Given the description of an element on the screen output the (x, y) to click on. 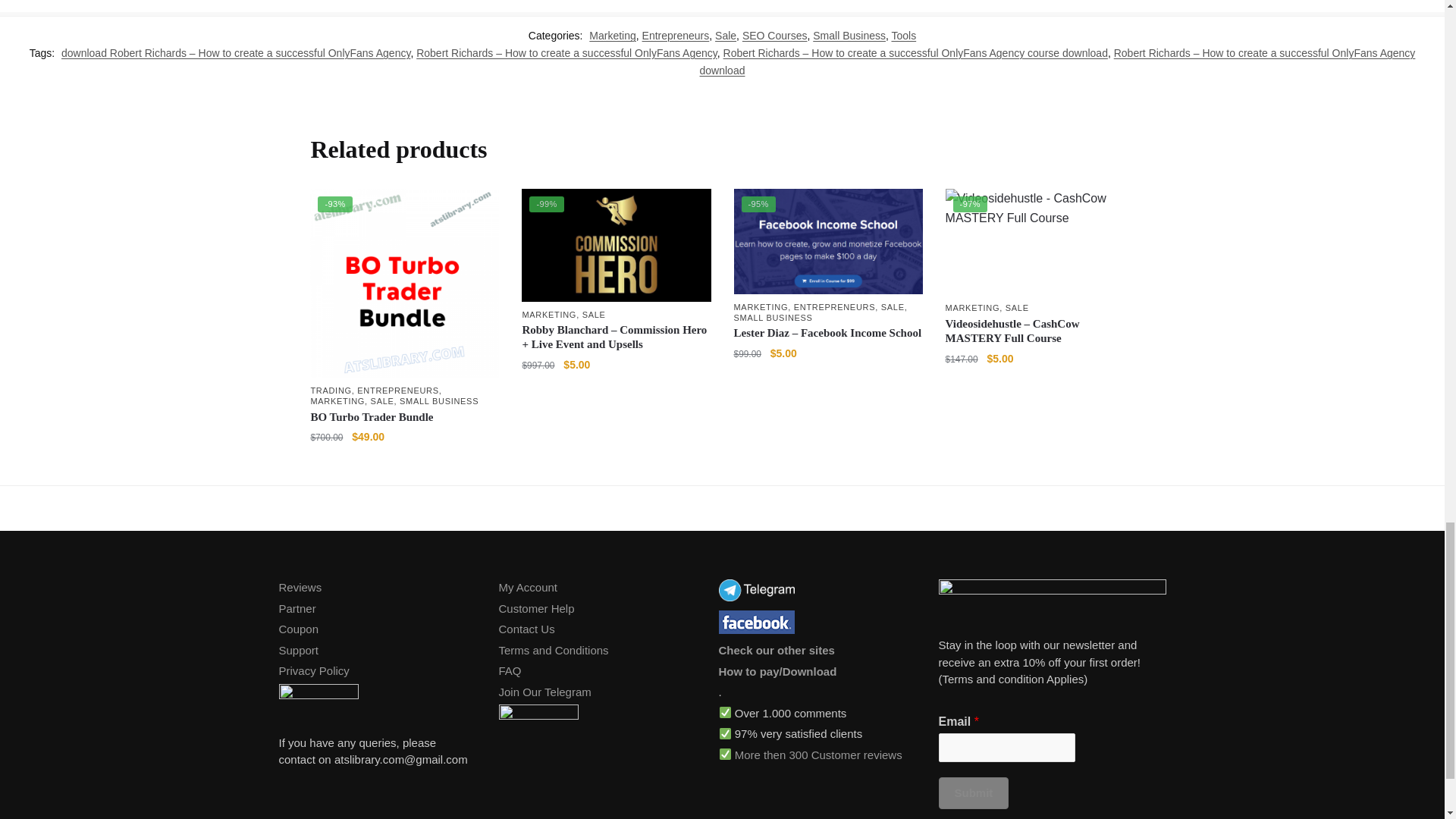
BO Turbo Trader Bundle (404, 283)
